Given the description of an element on the screen output the (x, y) to click on. 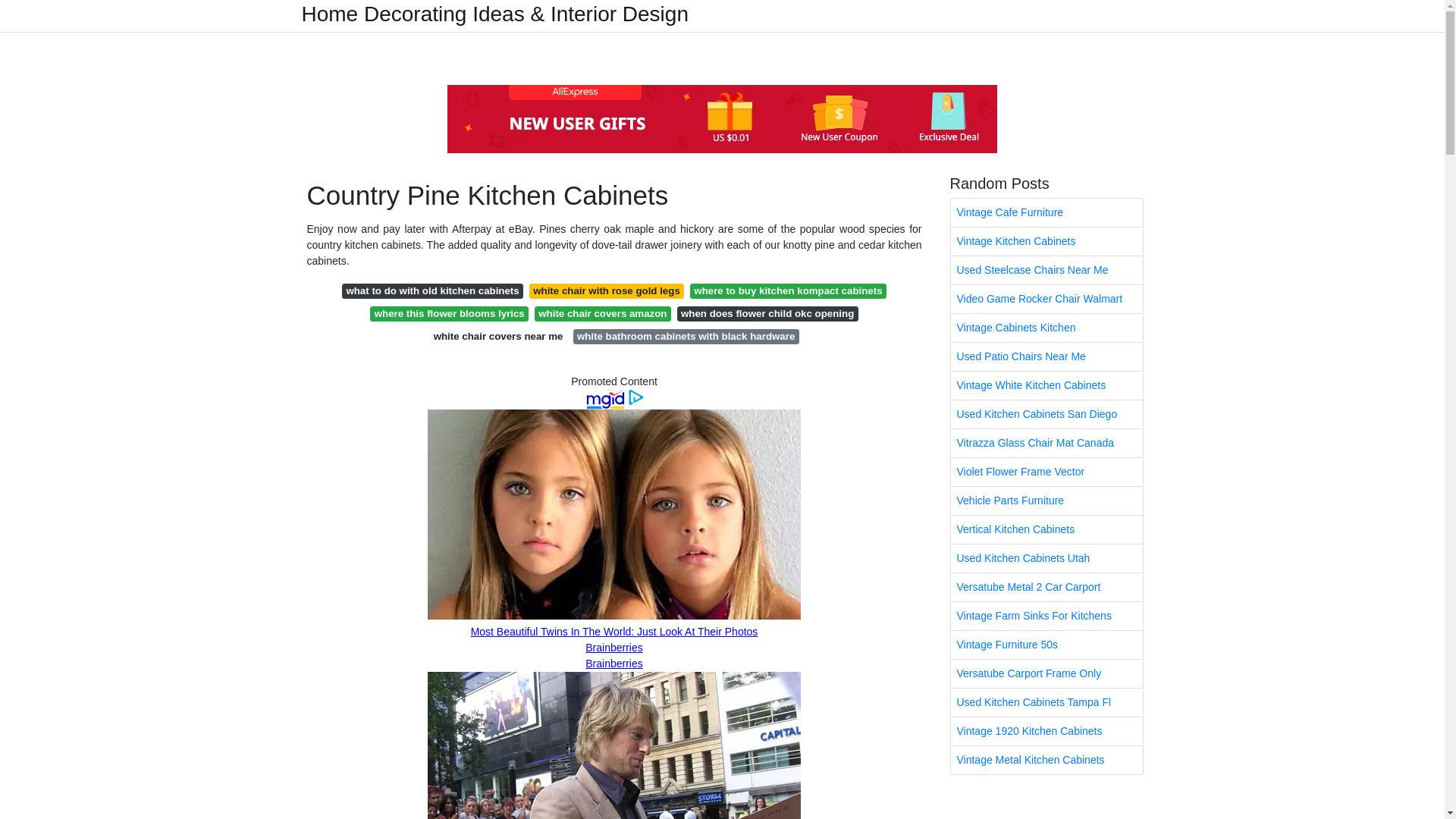
white chair covers amazon (602, 313)
Vintage Kitchen Cabinets (1046, 241)
white chair with rose gold legs (606, 290)
when does flower child okc opening (768, 313)
Used Kitchen Cabinets San Diego (1046, 414)
Vintage Cabinets Kitchen (1046, 327)
where this flower blooms lyrics (448, 313)
Vintage White Kitchen Cabinets (1046, 385)
where to buy kitchen kompact cabinets (788, 290)
Video Game Rocker Chair Walmart (1046, 298)
what to do with old kitchen cabinets (432, 290)
Vintage Cafe Furniture (1046, 212)
Used Patio Chairs Near Me (1046, 357)
Used Steelcase Chairs Near Me (1046, 270)
Vitrazza Glass Chair Mat Canada (1046, 443)
